Given the description of an element on the screen output the (x, y) to click on. 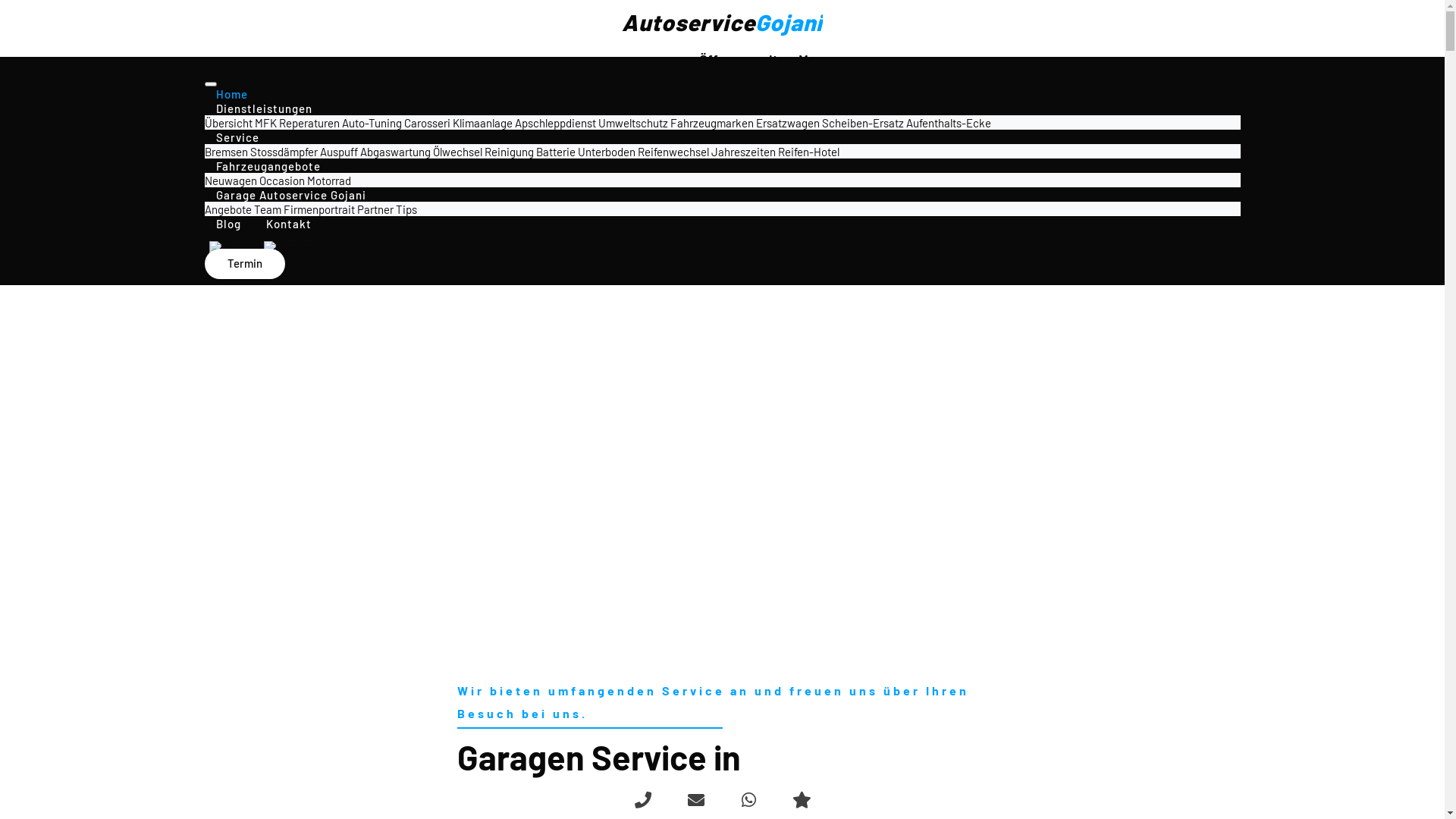
Bremsen Element type: text (225, 151)
Ersatzwagen Element type: text (787, 122)
Fahrzeugmarken Element type: text (711, 122)
Tips Element type: text (406, 209)
Auto-Tuning Element type: text (371, 122)
Dienstleistungen Element type: text (263, 108)
Reifen-Hotel Element type: text (808, 151)
Motorrad Element type: text (328, 180)
Reinigung Element type: text (508, 151)
Occasion Element type: text (281, 180)
Jahreszeiten Element type: text (743, 151)
Angebote Element type: text (227, 209)
Termin Element type: text (244, 263)
Umweltschutz Element type: text (632, 122)
Kontakt Element type: text (288, 223)
Telefonnumer
+41 41 252 00 01 Element type: text (780, 115)
Partner Element type: text (374, 209)
German Element type: hover (236, 247)
Team Element type: text (266, 209)
Reperaturen Element type: text (309, 122)
Unterboden Element type: text (606, 151)
Blog Element type: text (228, 223)
Scheiben-Ersatz Element type: text (862, 122)
Fahrzeugangebote Element type: text (268, 165)
AutoserviceGojani Element type: text (721, 21)
Carosseri Element type: text (426, 122)
Apschleppdienst Element type: text (554, 122)
Abgaswartung Element type: text (394, 151)
Neuwagen Element type: text (230, 180)
Reifenwechsel Element type: text (672, 151)
Klimaanlage Element type: text (481, 122)
Aufenthalts-Ecke Element type: text (947, 122)
Batterie Element type: text (554, 151)
Auspuff Element type: text (338, 151)
Firmenportrait Element type: text (318, 209)
Email
info@autoservicegojani.ch Element type: text (760, 158)
Garage Autoservice Gojani Element type: text (290, 194)
MFK Element type: text (265, 122)
Service Element type: text (237, 137)
English Element type: hover (289, 247)
Home Element type: text (231, 93)
